Given the description of an element on the screen output the (x, y) to click on. 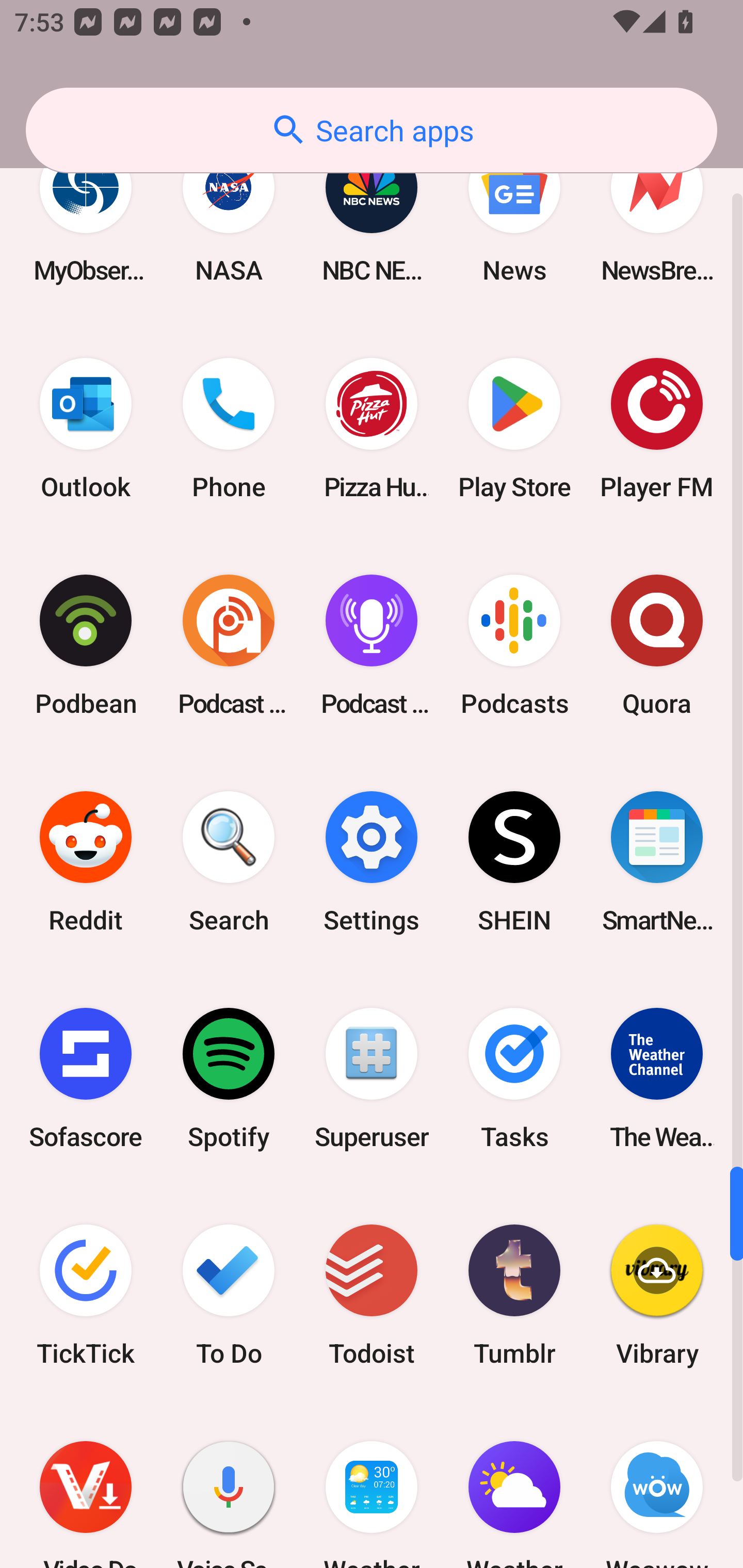
  Search apps (371, 130)
MyObservatory (85, 211)
NASA (228, 211)
NBC NEWS (371, 211)
News (514, 211)
NewsBreak (656, 211)
Outlook (85, 427)
Phone (228, 427)
Pizza Hut HK & Macau (371, 427)
Play Store (514, 427)
Player FM (656, 427)
Podbean (85, 645)
Podcast Addict (228, 645)
Podcast Player (371, 645)
Podcasts (514, 645)
Quora (656, 645)
Reddit (85, 862)
Search (228, 862)
Settings (371, 862)
SHEIN (514, 862)
SmartNews (656, 862)
Sofascore (85, 1078)
Spotify (228, 1078)
Superuser (371, 1078)
Tasks (514, 1078)
The Weather Channel (656, 1078)
TickTick (85, 1294)
To Do (228, 1294)
Todoist (371, 1294)
Tumblr (514, 1294)
Vibrary (656, 1294)
Video Downloader & Ace Player (85, 1485)
Voice Search (228, 1485)
Weather (371, 1485)
Weather (514, 1485)
Weawow (656, 1485)
